Given the description of an element on the screen output the (x, y) to click on. 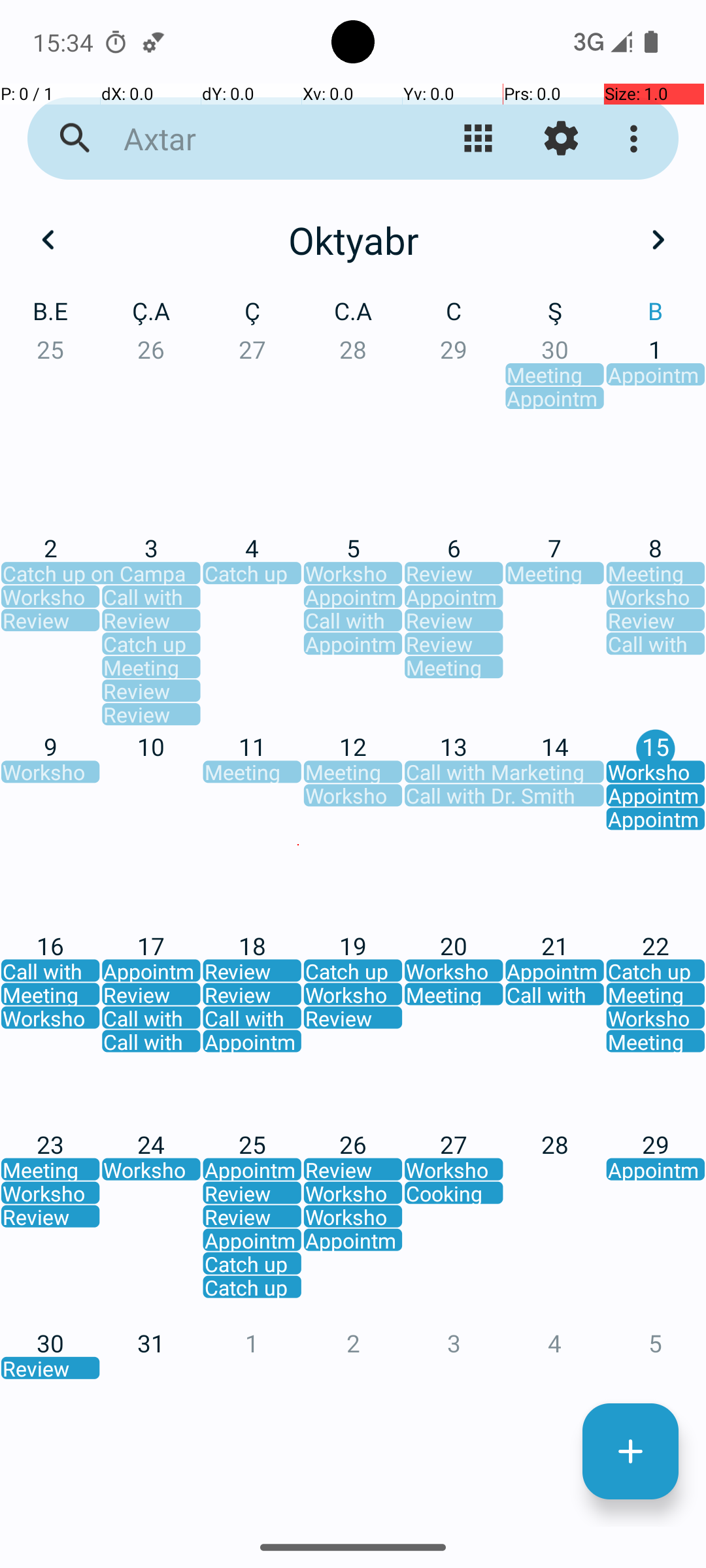
Axtar Element type: android.widget.EditText (252, 138)
Görünüşü dəyiş Element type: android.widget.Button (477, 138)
Digər seçimlər Element type: android.widget.ImageView (636, 138)
Yeni Hadisə Element type: android.widget.ImageButton (630, 1451)
Oktyabr Element type: android.widget.TextView (352, 239)
